Given the description of an element on the screen output the (x, y) to click on. 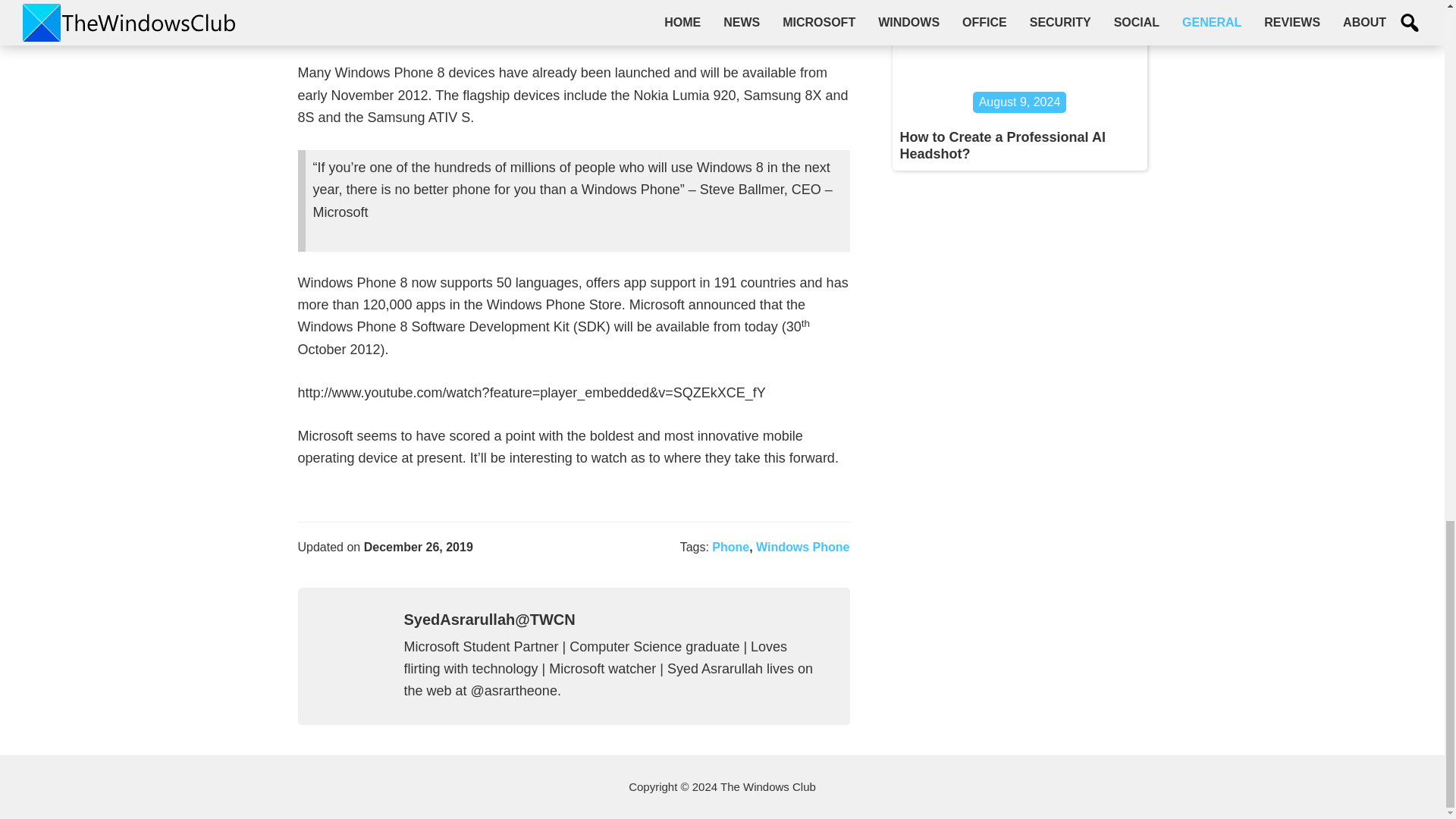
Windows Phone (801, 546)
How to Create a Professional AI Headshot? (1002, 145)
Phone (730, 546)
